Given the description of an element on the screen output the (x, y) to click on. 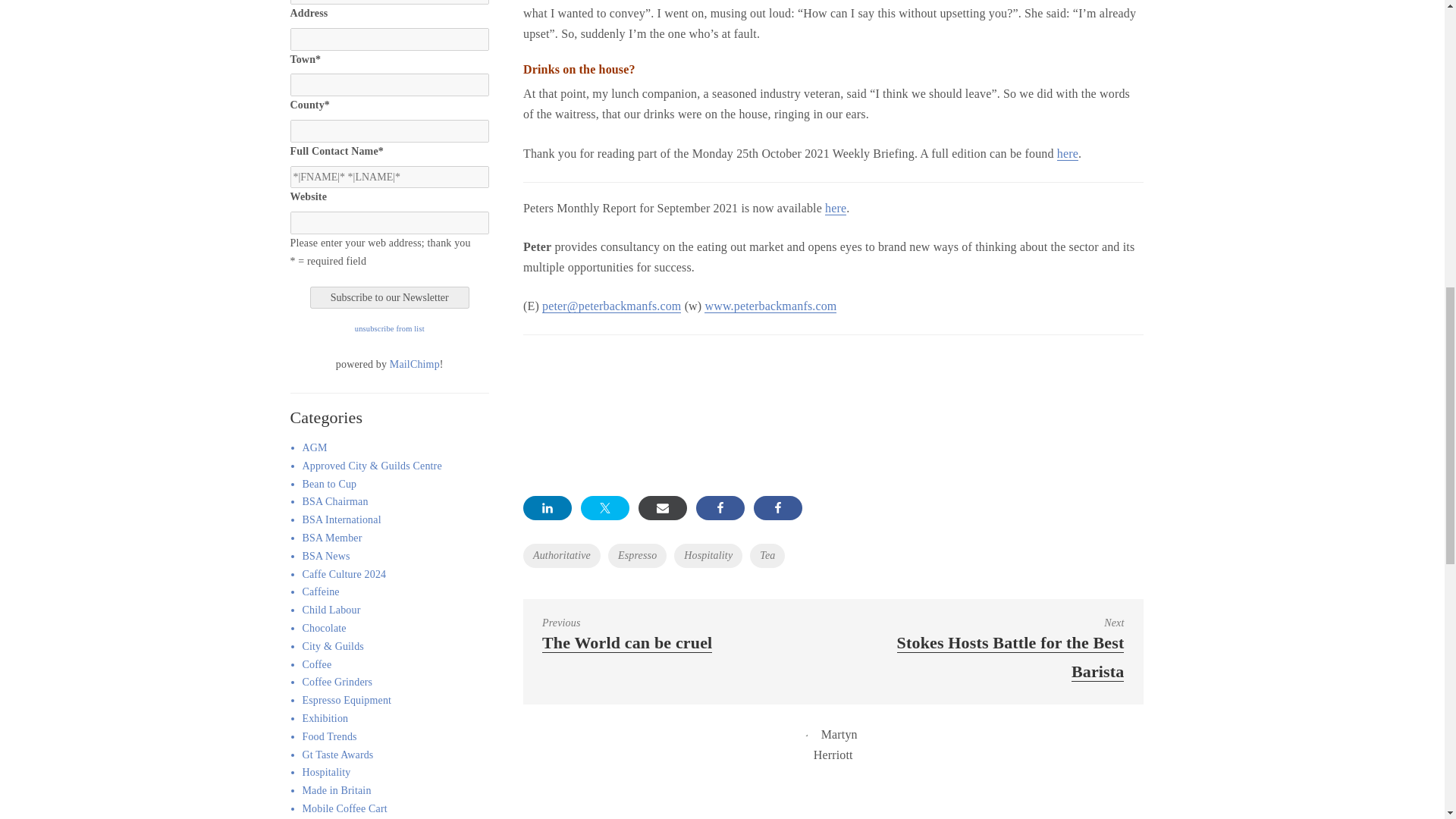
Subscribe to our Newsletter (389, 297)
Like on Facebook (719, 508)
Share on Facebook (778, 508)
Share via Email (663, 508)
Share on LinkedIn (547, 508)
Share on Twitter (604, 508)
